Given the description of an element on the screen output the (x, y) to click on. 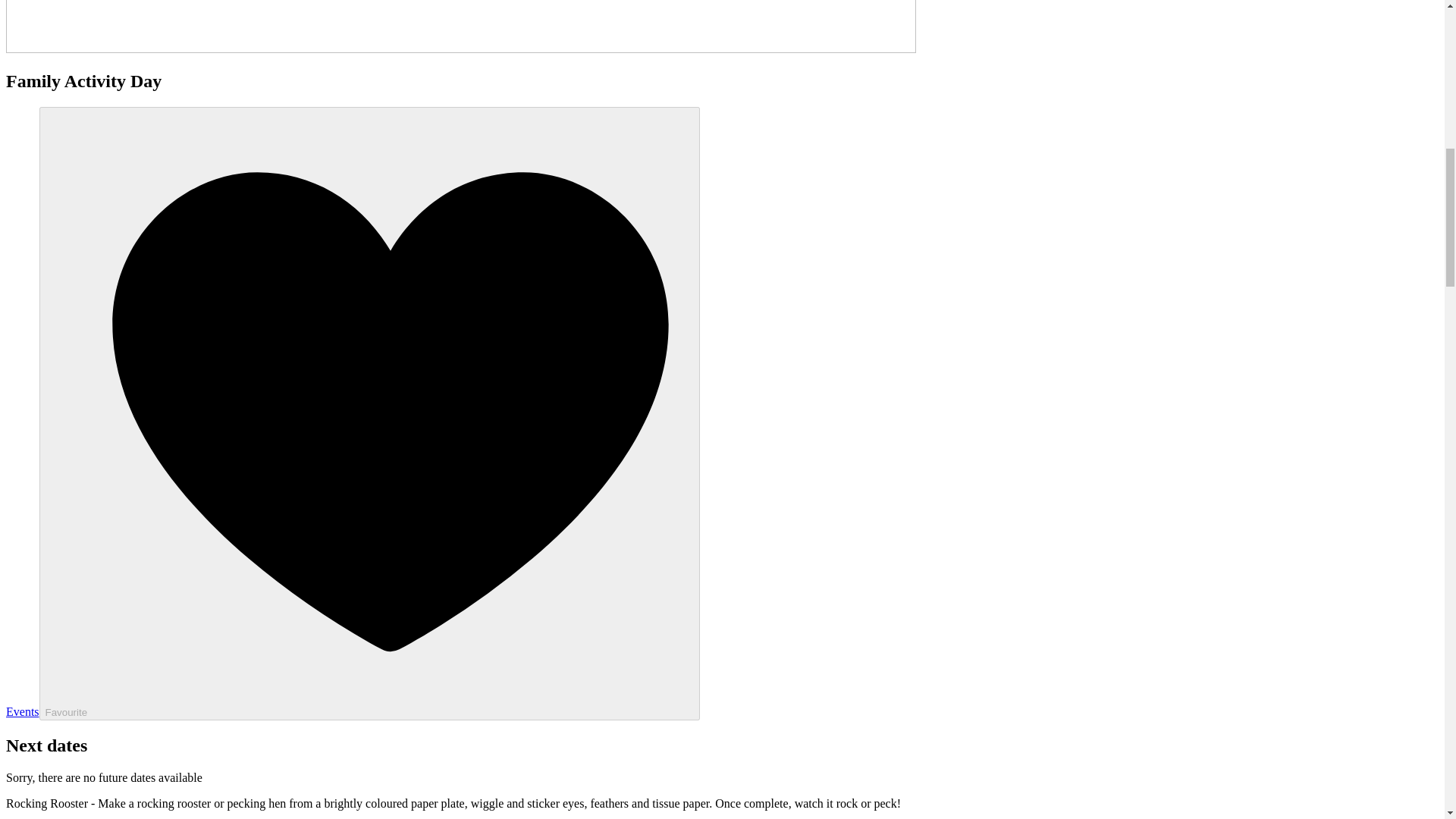
Events (22, 711)
